Given the description of an element on the screen output the (x, y) to click on. 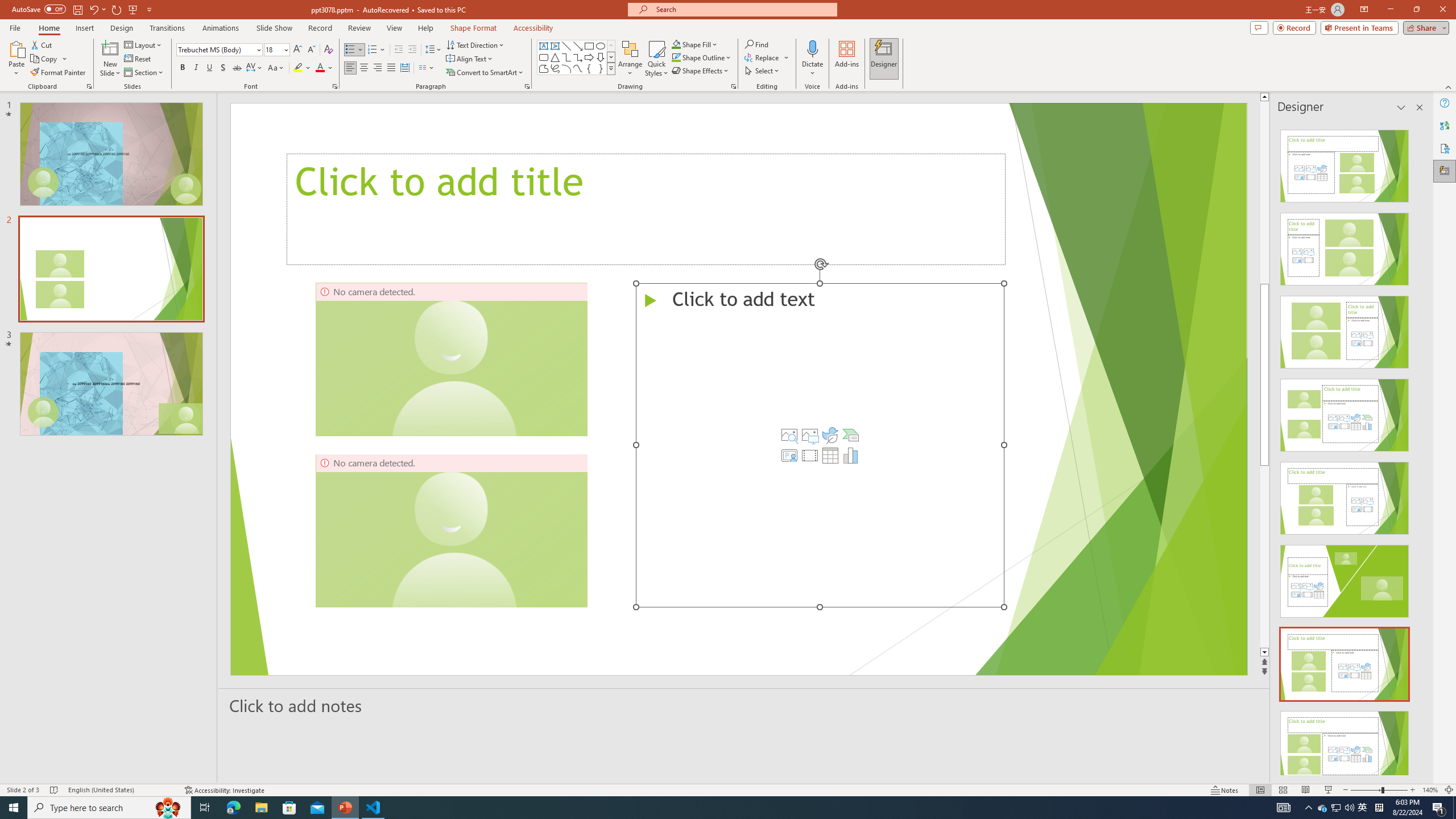
Shape Effects (700, 69)
Insert Video (809, 455)
Shape Format (473, 28)
